Given the description of an element on the screen output the (x, y) to click on. 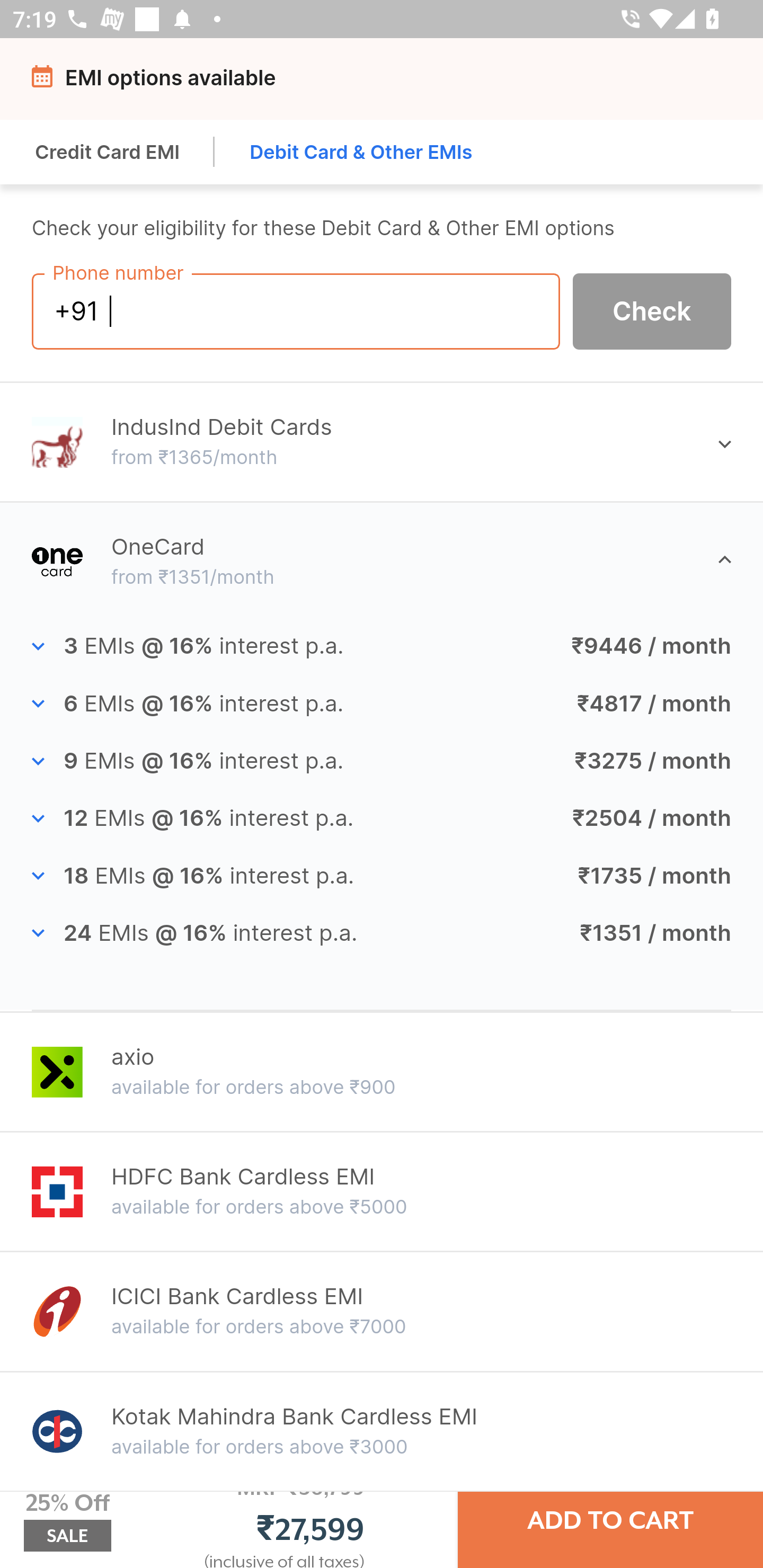
Navigate up (44, 82)
Credit Card EMI (107, 152)
Debit Card & Other EMIs (361, 152)
Check (651, 310)
OneCard OneCard from ₹1351/month (381, 561)
3 EMIs @ 16% interest p.a. ₹9446 / month (381, 645)
6 EMIs @ 16% interest p.a. ₹4817 / month (381, 702)
9 EMIs @ 16% interest p.a. ₹3275 / month (381, 761)
12 EMIs @ 16% interest p.a. ₹2504 / month (381, 818)
18 EMIs @ 16% interest p.a. ₹1735 / month (381, 876)
24 EMIs @ 16% interest p.a. ₹1351 / month (381, 933)
ADD TO CART (610, 1520)
